Given the description of an element on the screen output the (x, y) to click on. 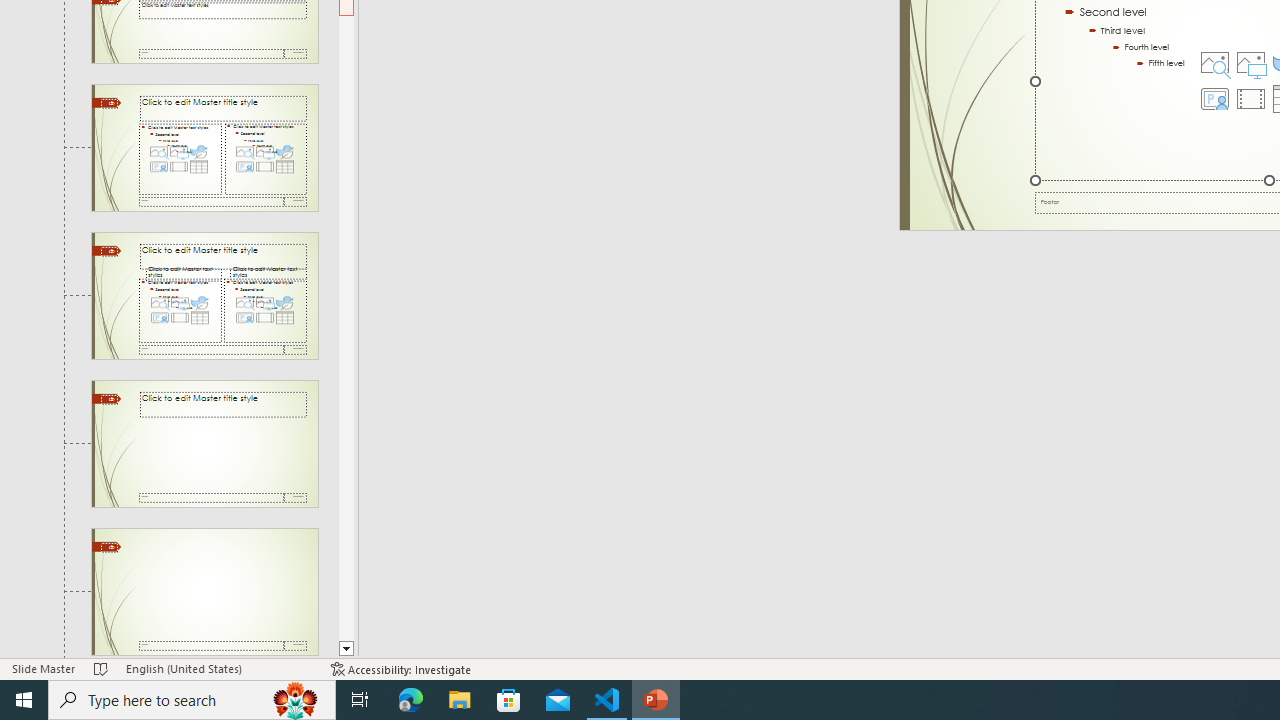
Insert Cameo (1215, 98)
Slide Title Only Layout: used by no slides (204, 443)
Slide Blank Layout: used by no slides (204, 592)
Slide Comparison Layout: used by no slides (204, 296)
Pictures (1251, 62)
Page down (345, 327)
Slide Two Content Layout: used by no slides (204, 147)
Insert Video (1251, 98)
Stock Images (1215, 62)
